Given the description of an element on the screen output the (x, y) to click on. 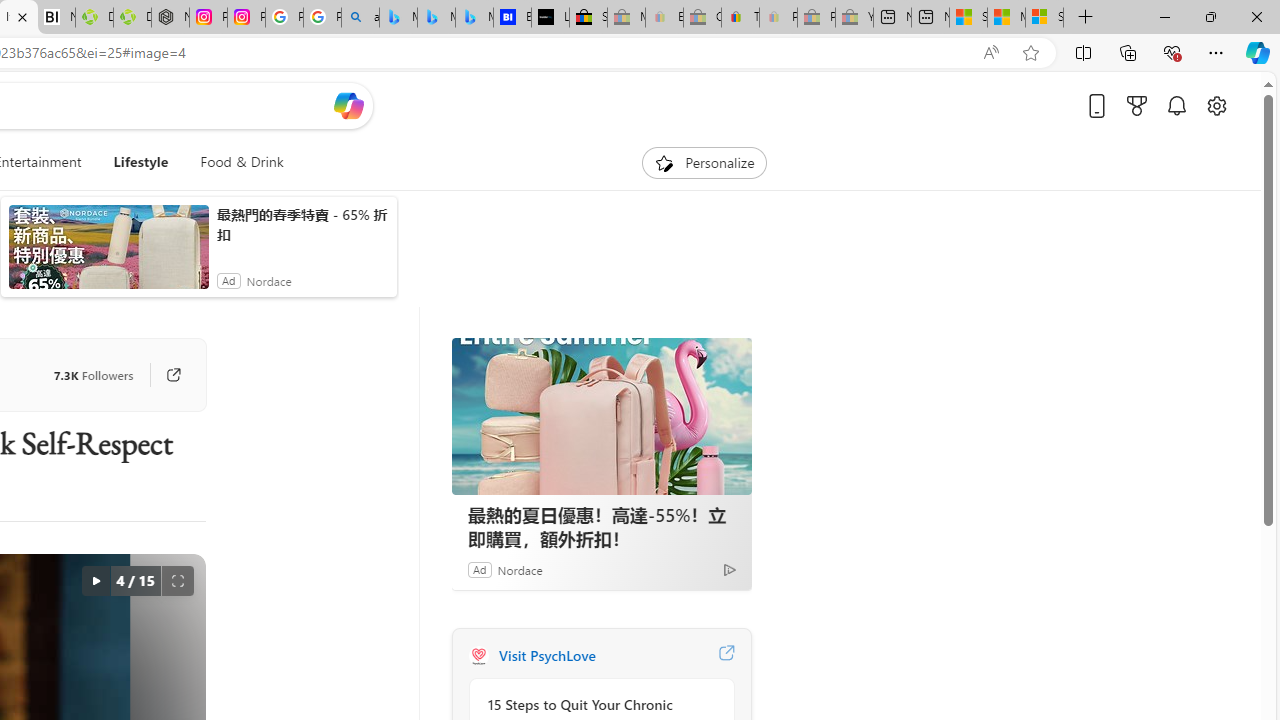
Visit PsychLove website (726, 655)
Selling on eBay | Electronics, Fashion, Home & Garden | eBay (587, 17)
Microsoft Bing Travel - Shangri-La Hotel Bangkok (473, 17)
anim-content (107, 255)
